Given the description of an element on the screen output the (x, y) to click on. 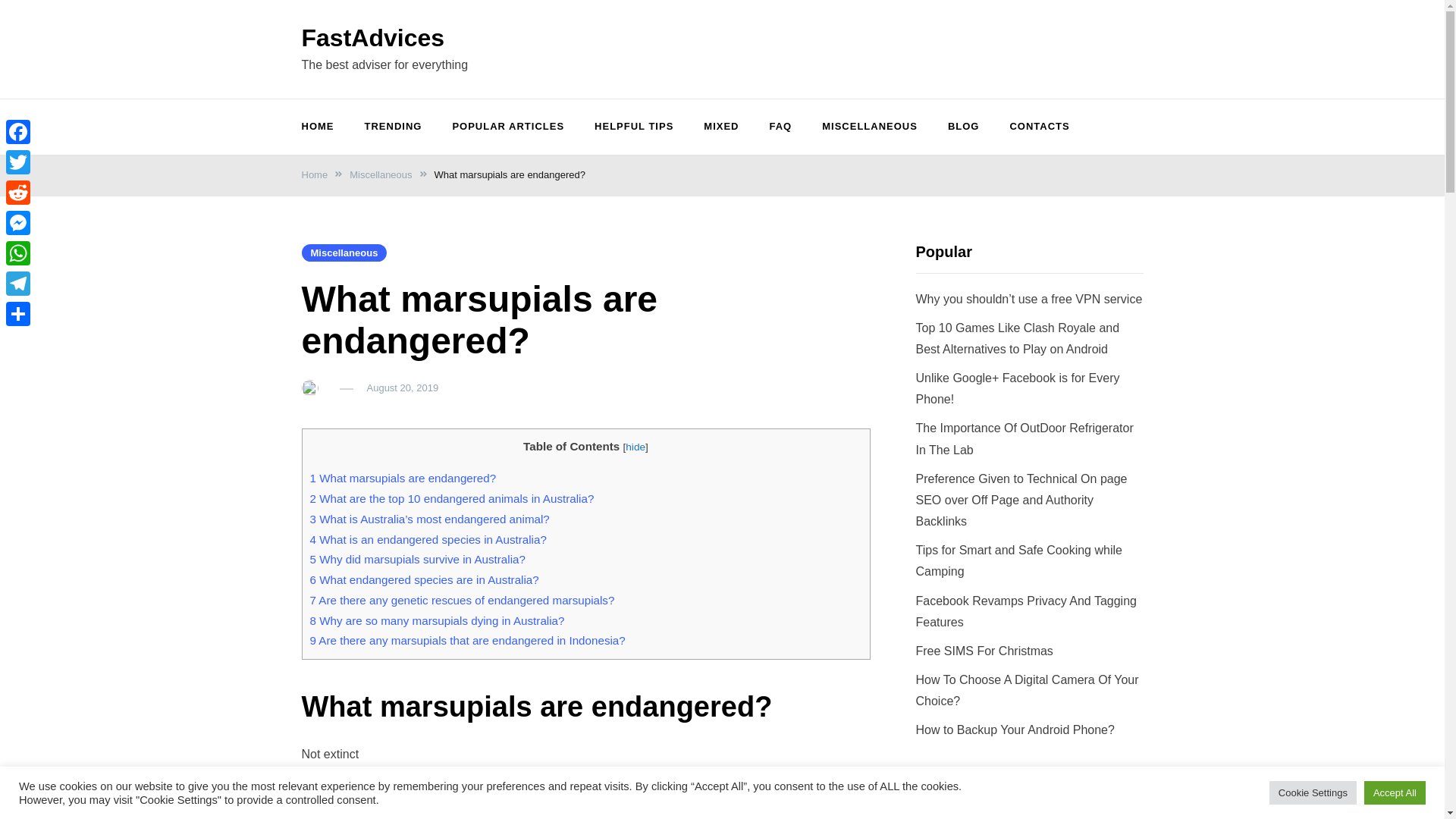
CONTACTS (1039, 126)
POPULAR ARTICLES (507, 126)
Telegram (17, 283)
Miscellaneous (380, 174)
TRENDING (392, 126)
BLOG (963, 126)
August 20, 2019 (402, 387)
Twitter (17, 162)
WhatsApp (17, 253)
1 What marsupials are endangered? (402, 477)
7 Are there any genetic rescues of endangered marsupials? (461, 599)
hide (635, 446)
FAQ (780, 126)
6 What endangered species are in Australia? (423, 579)
MISCELLANEOUS (869, 126)
